Given the description of an element on the screen output the (x, y) to click on. 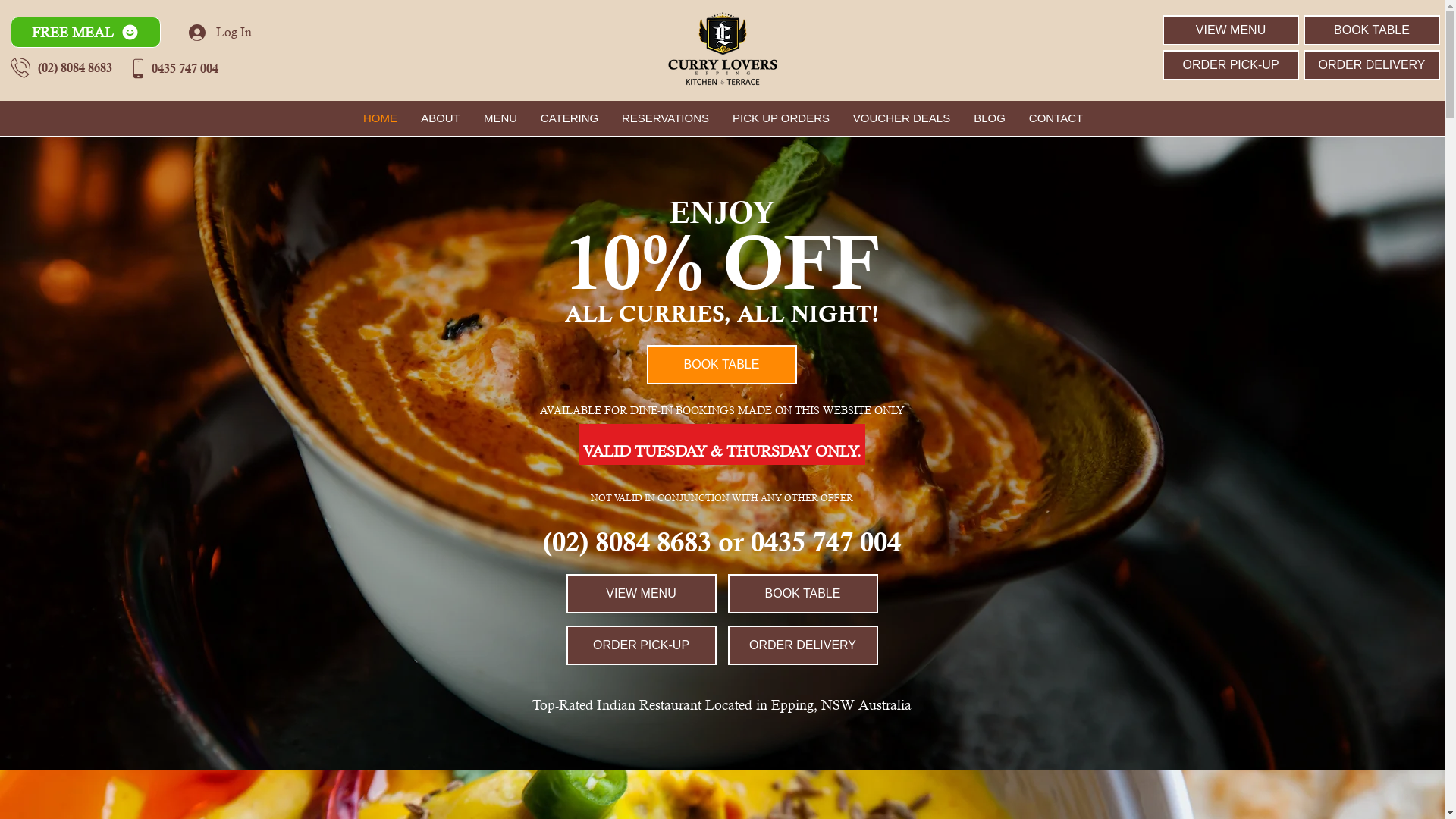
BOOK TABLE Element type: text (1371, 30)
CATERING Element type: text (569, 117)
ORDER PICK-UP Element type: text (1230, 65)
(02) 8084 8683 Element type: text (74, 67)
HOME Element type: text (380, 117)
ABOUT Element type: text (440, 117)
ORDER DELIVERY Element type: text (1371, 65)
BOOK TABLE Element type: text (803, 593)
VIEW MENU Element type: text (1230, 30)
BOOK TABLE Element type: text (721, 364)
Log In Element type: text (220, 32)
ORDER PICK-UP Element type: text (640, 645)
BLOG Element type: text (988, 117)
CONTACT Element type: text (1056, 117)
VIEW MENU Element type: text (640, 593)
VOUCHER DEALS Element type: text (901, 117)
0 Element type: text (34, 23)
FREE MEAL Element type: text (85, 31)
PICK UP ORDERS Element type: text (780, 117)
0435 747 004 Element type: text (184, 67)
MENU Element type: text (499, 117)
RESERVATIONS Element type: text (664, 117)
ORDER DELIVERY Element type: text (803, 645)
